Given the description of an element on the screen output the (x, y) to click on. 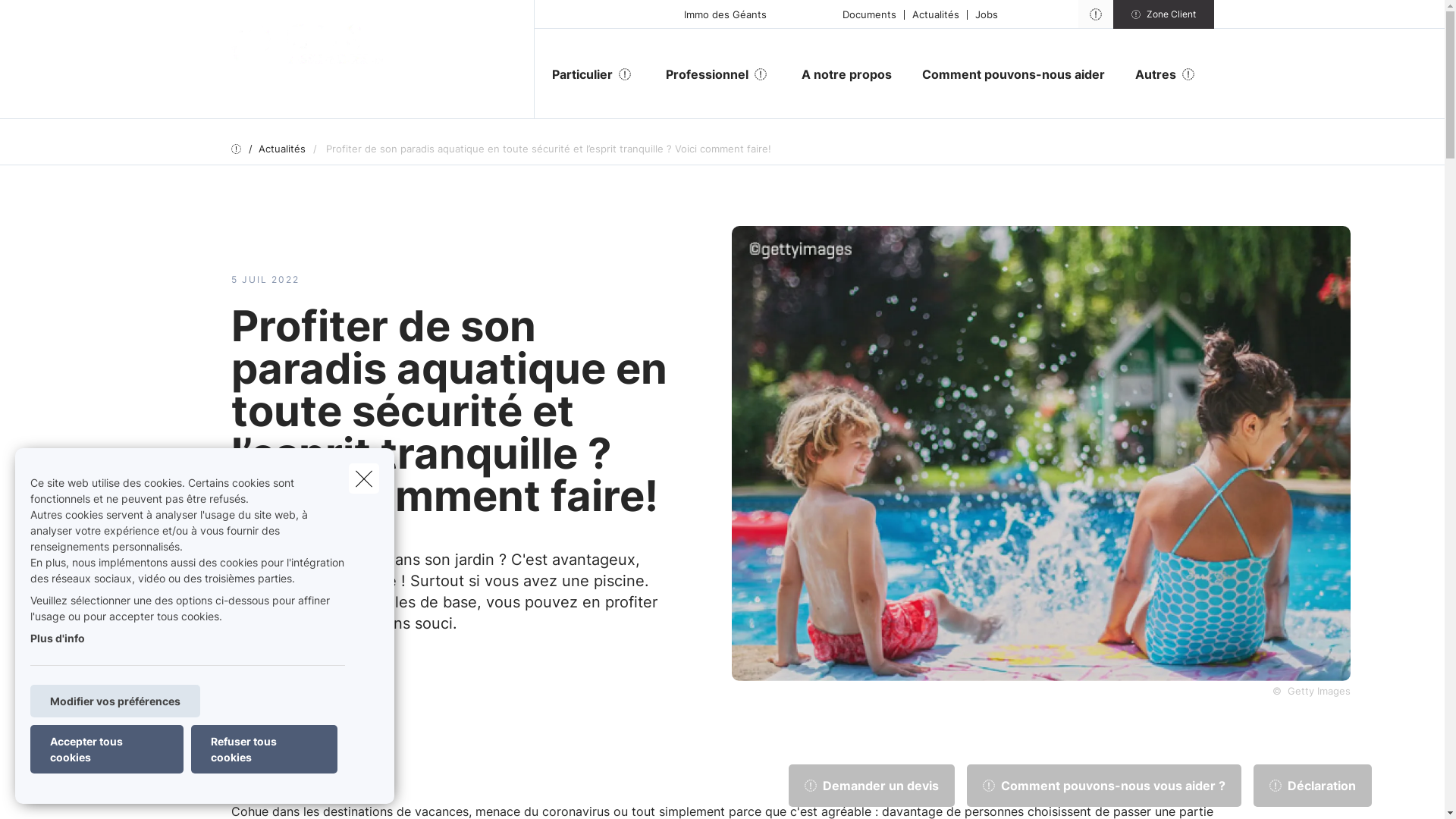
Comment pouvons-nous vous aider ? Element type: text (1103, 785)
Plus d'info Element type: text (57, 637)
Accepter tous cookies Element type: text (106, 748)
Particulier Element type: text (576, 73)
Autres Element type: text (1149, 73)
Comment pouvons-nous aider Element type: text (1013, 73)
Zone Client Element type: text (1163, 14)
Professionnel Element type: text (701, 73)
Documents Element type: text (868, 13)
Jobs Element type: text (985, 13)
Rechercher Element type: text (54, 18)
A notre propos Element type: text (845, 73)
Refuser tous cookies Element type: text (264, 748)
Demander un devis Element type: text (871, 785)
